Given the description of an element on the screen output the (x, y) to click on. 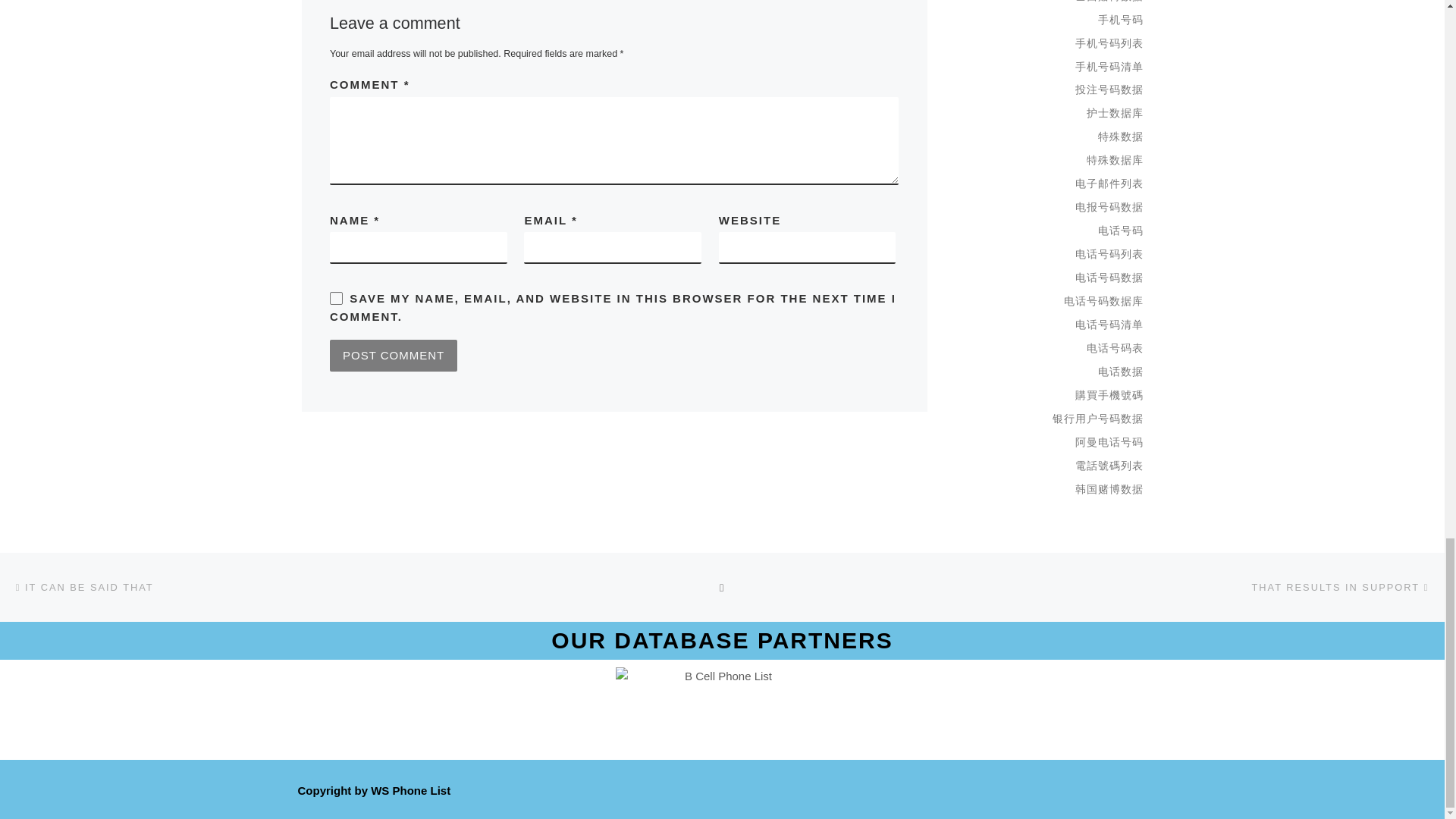
yes (336, 297)
Post Comment (393, 355)
